Given the description of an element on the screen output the (x, y) to click on. 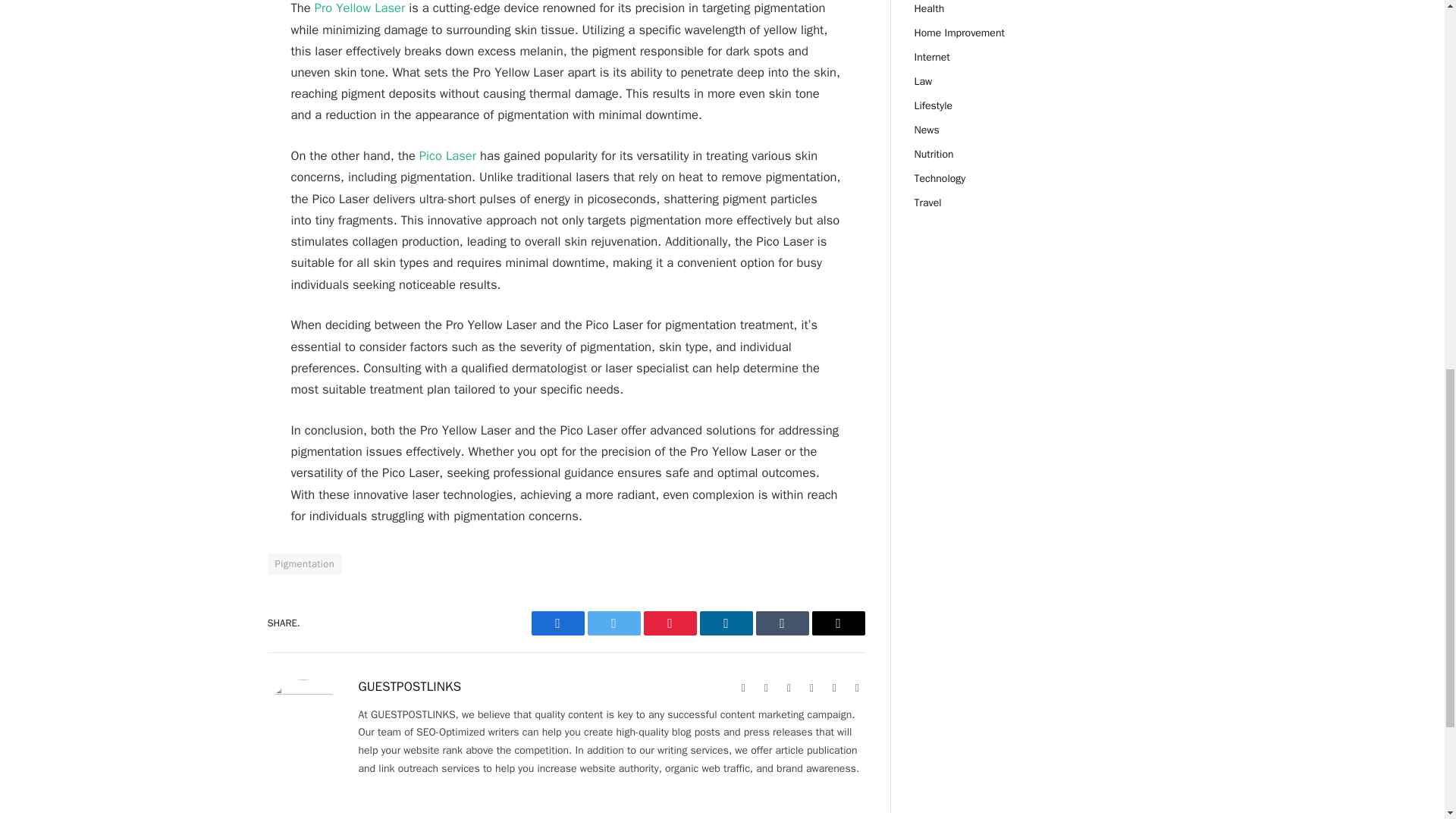
Pigmentation (304, 563)
Pro Yellow Laser (360, 7)
Twitter (613, 622)
Facebook (557, 622)
Pico Laser (447, 155)
